Given the description of an element on the screen output the (x, y) to click on. 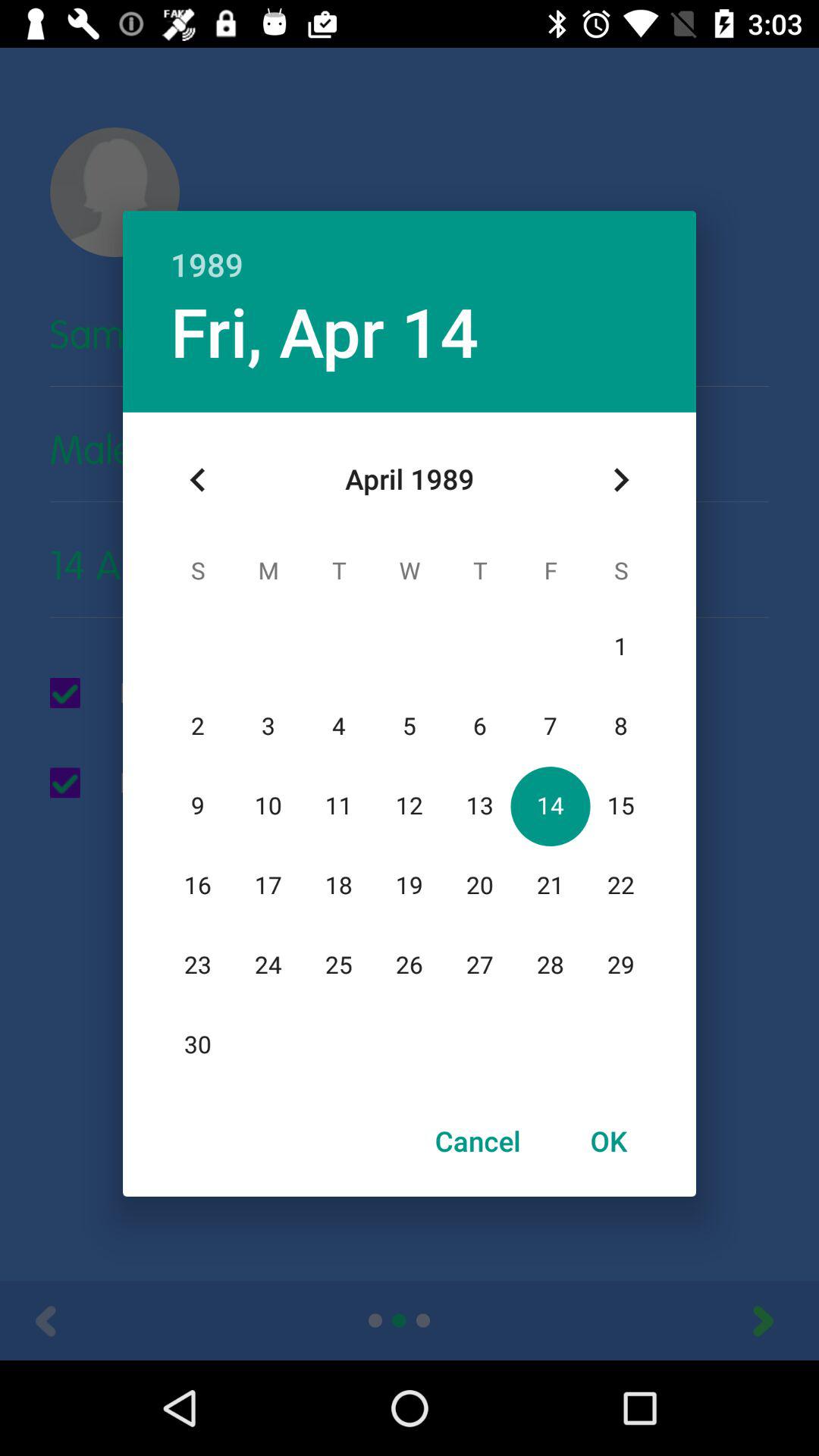
tap the fri, apr 14 icon (324, 331)
